Given the description of an element on the screen output the (x, y) to click on. 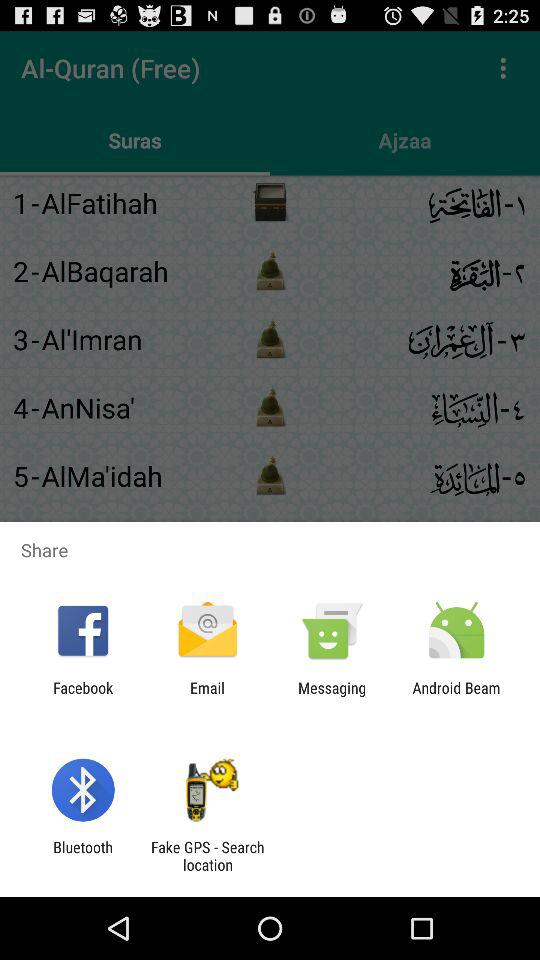
tap the fake gps search app (207, 856)
